Given the description of an element on the screen output the (x, y) to click on. 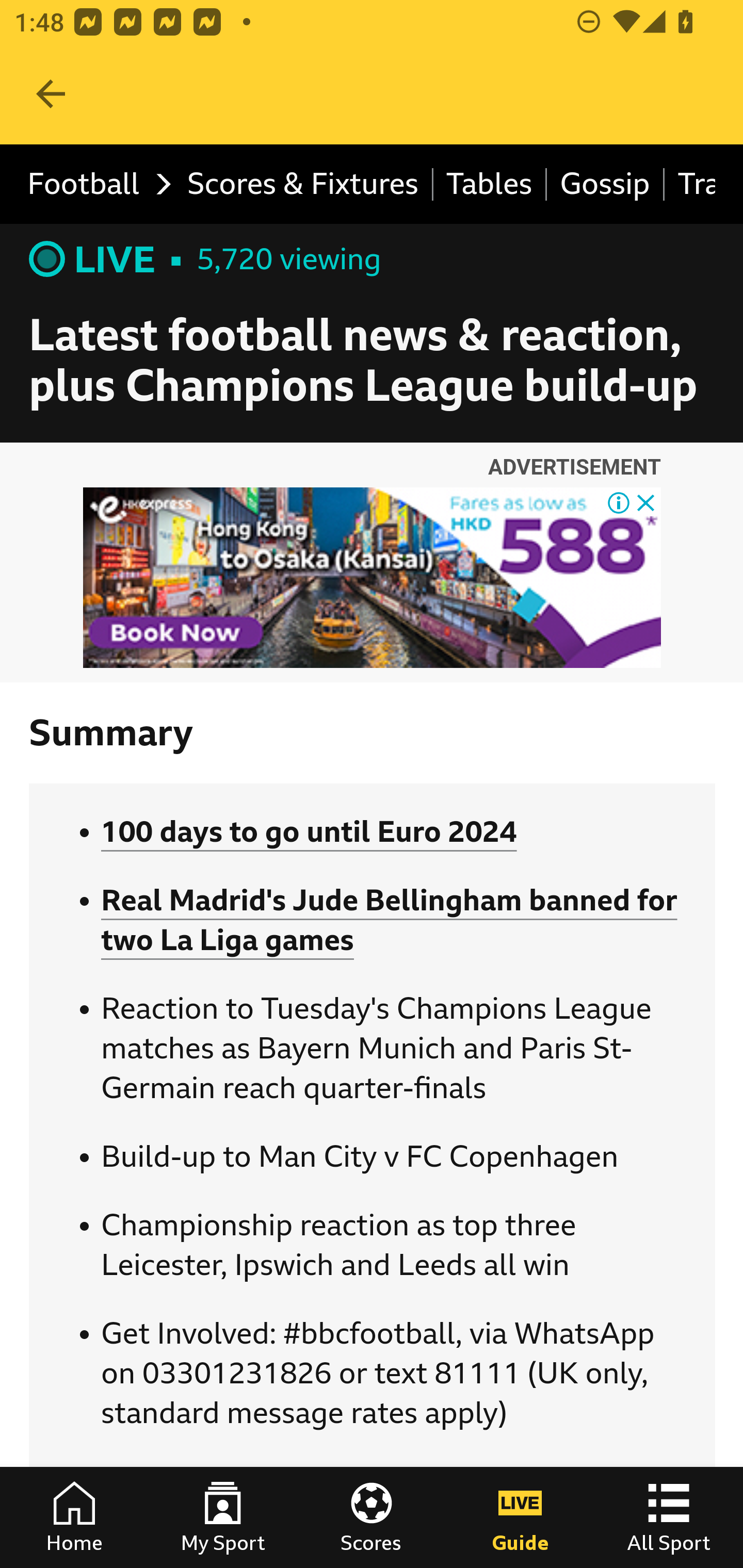
Navigate up (50, 93)
Football (94, 184)
Scores & Fixtures (303, 184)
Tables (490, 184)
Gossip (605, 184)
100 days to go until Euro 2024 (309, 831)
Home (74, 1517)
My Sport (222, 1517)
Scores (371, 1517)
All Sport (668, 1517)
